Given the description of an element on the screen output the (x, y) to click on. 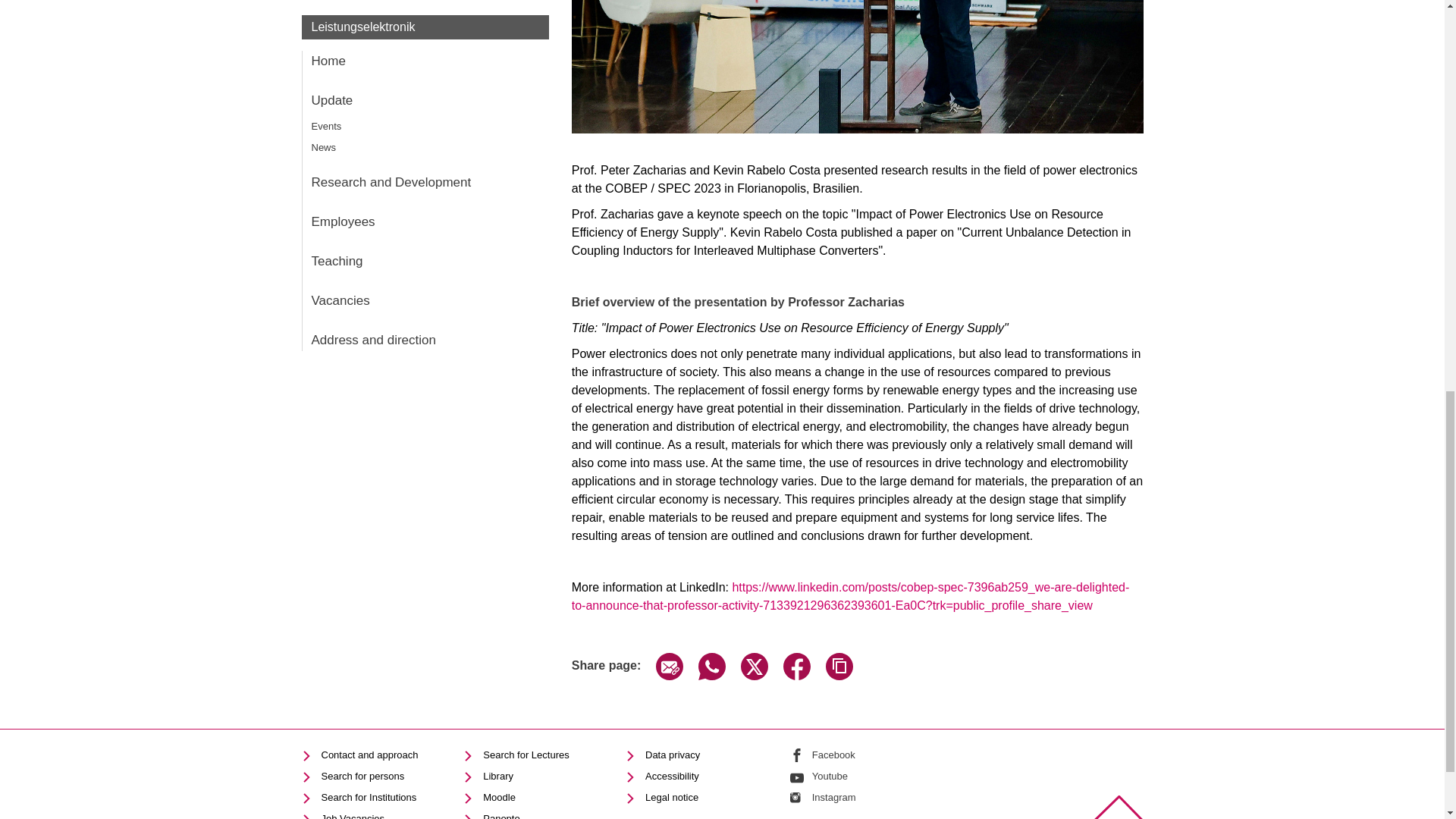
Share page via email (669, 675)
To top (1117, 807)
